Given the description of an element on the screen output the (x, y) to click on. 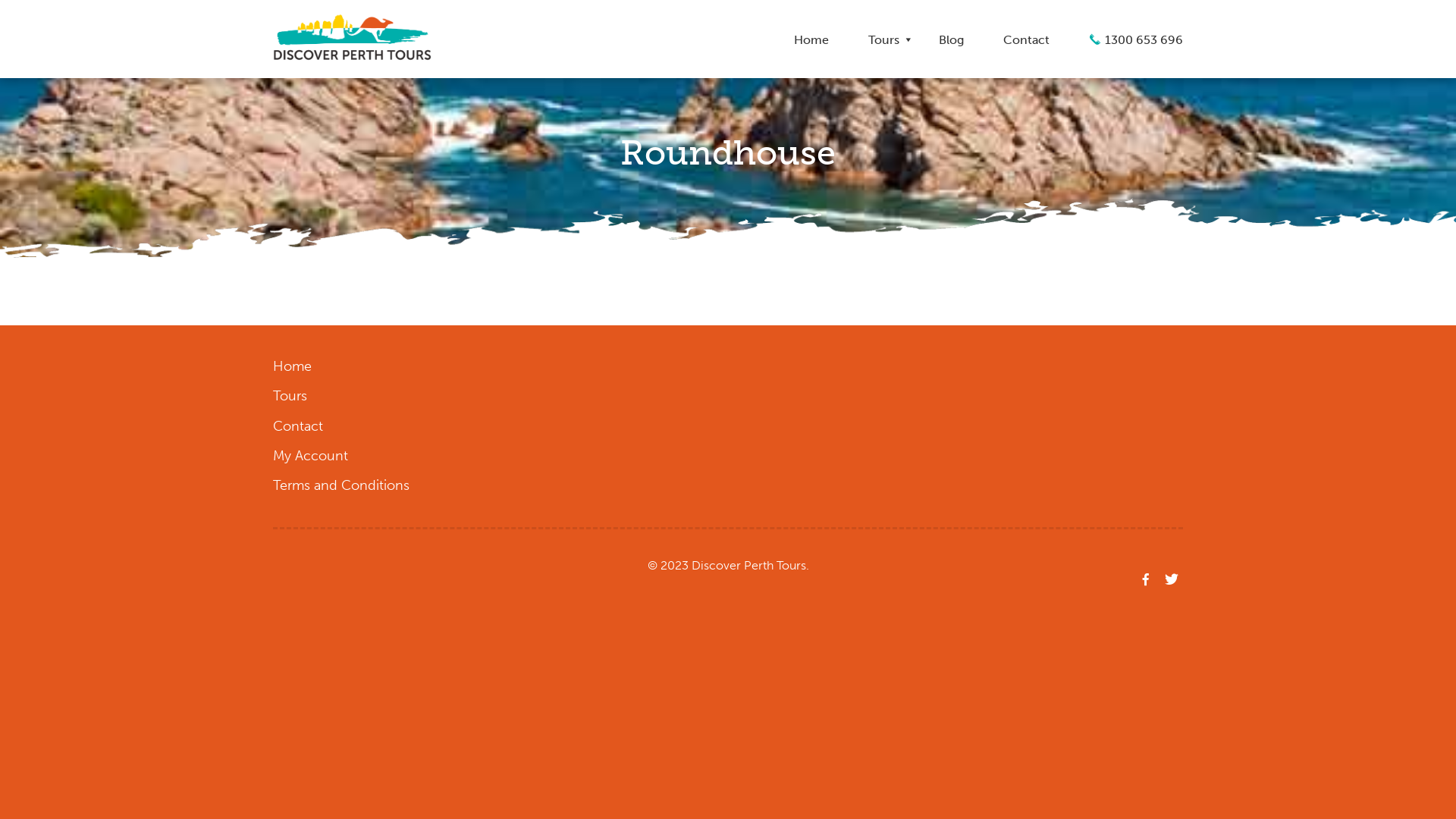
Contact Element type: text (298, 425)
Skip to primary navigation Element type: text (0, 0)
Discover Perth Tours Element type: text (409, 37)
twitter Element type: hover (1171, 578)
1300 653 696 Element type: text (1126, 39)
Home Element type: text (811, 40)
Home Element type: text (292, 365)
My Account Element type: text (310, 455)
facebook Element type: hover (1145, 578)
Contact Element type: text (1026, 40)
Blog Element type: text (951, 40)
Tours Element type: text (883, 40)
Terms and Conditions Element type: text (341, 484)
Tours Element type: text (290, 395)
